Given the description of an element on the screen output the (x, y) to click on. 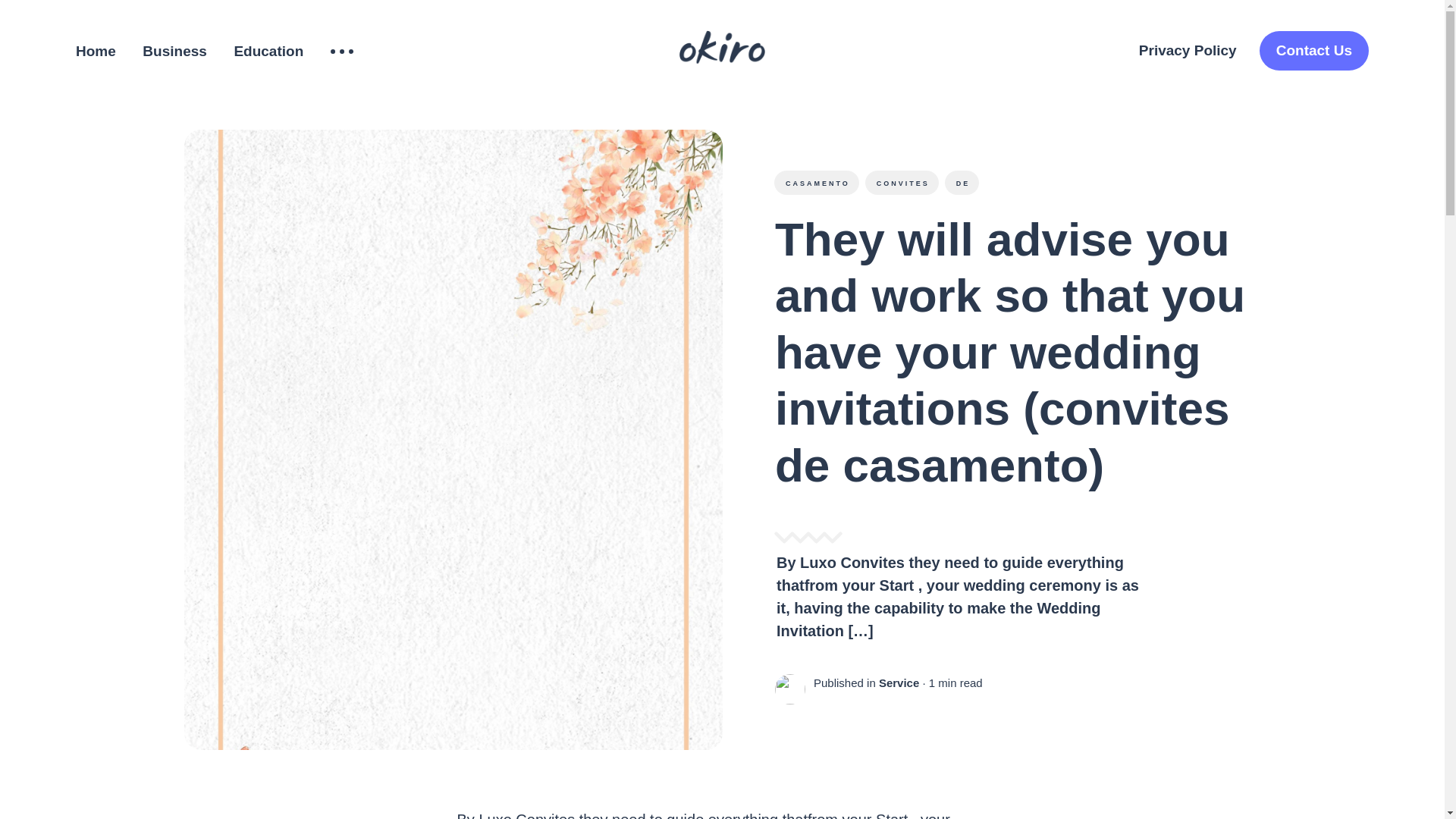
Home (95, 51)
Business (174, 51)
Privacy Policy (1187, 51)
CONVITES (900, 182)
Education (267, 51)
DE (960, 182)
Contact Us (1313, 51)
CASAMENTO (816, 182)
Service (897, 682)
